Given the description of an element on the screen output the (x, y) to click on. 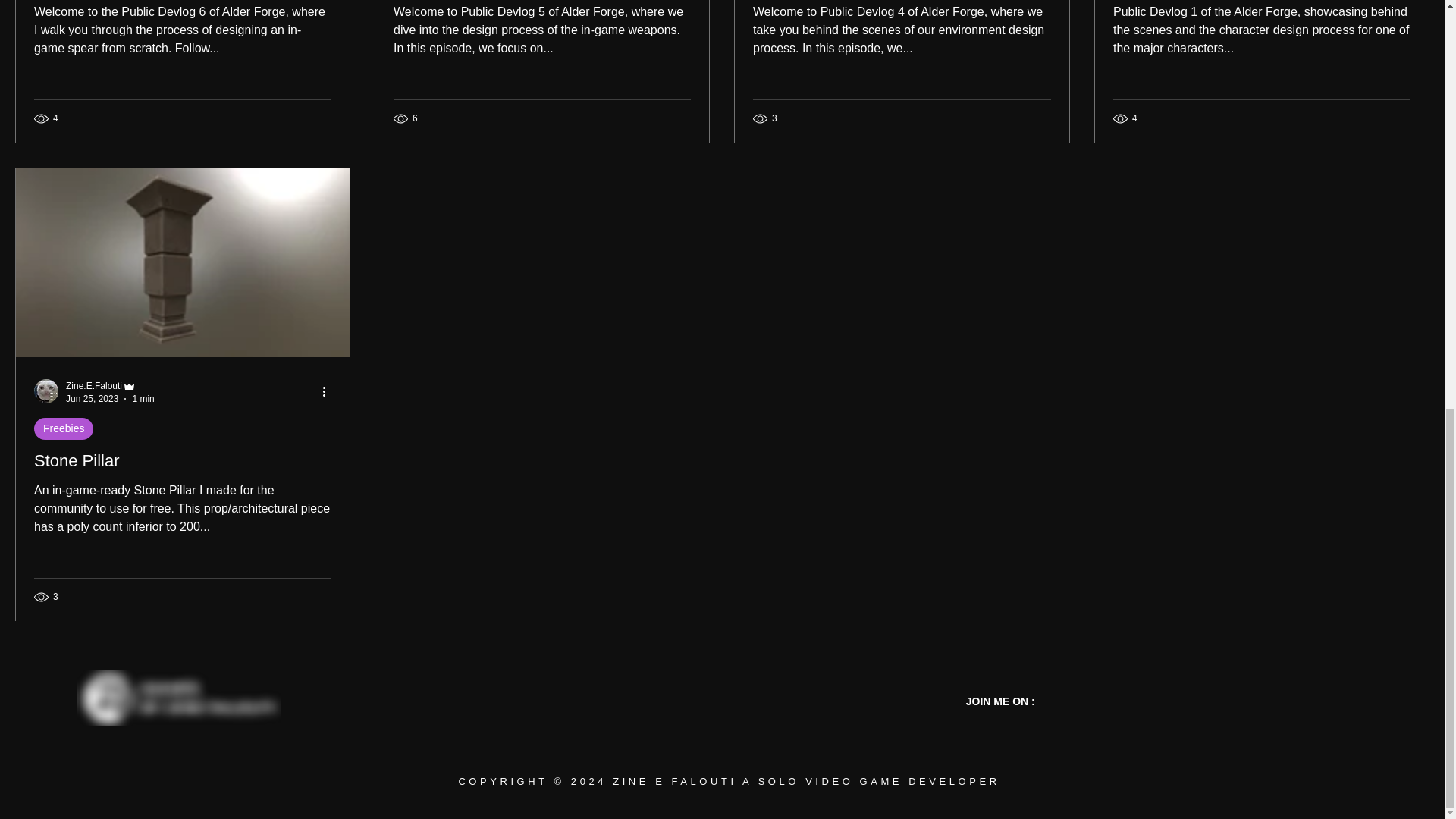
Freebies (63, 428)
Stone Pillar (182, 461)
Jun 25, 2023 (91, 398)
Zine.E.Falouti (93, 385)
1 min (143, 398)
